Given the description of an element on the screen output the (x, y) to click on. 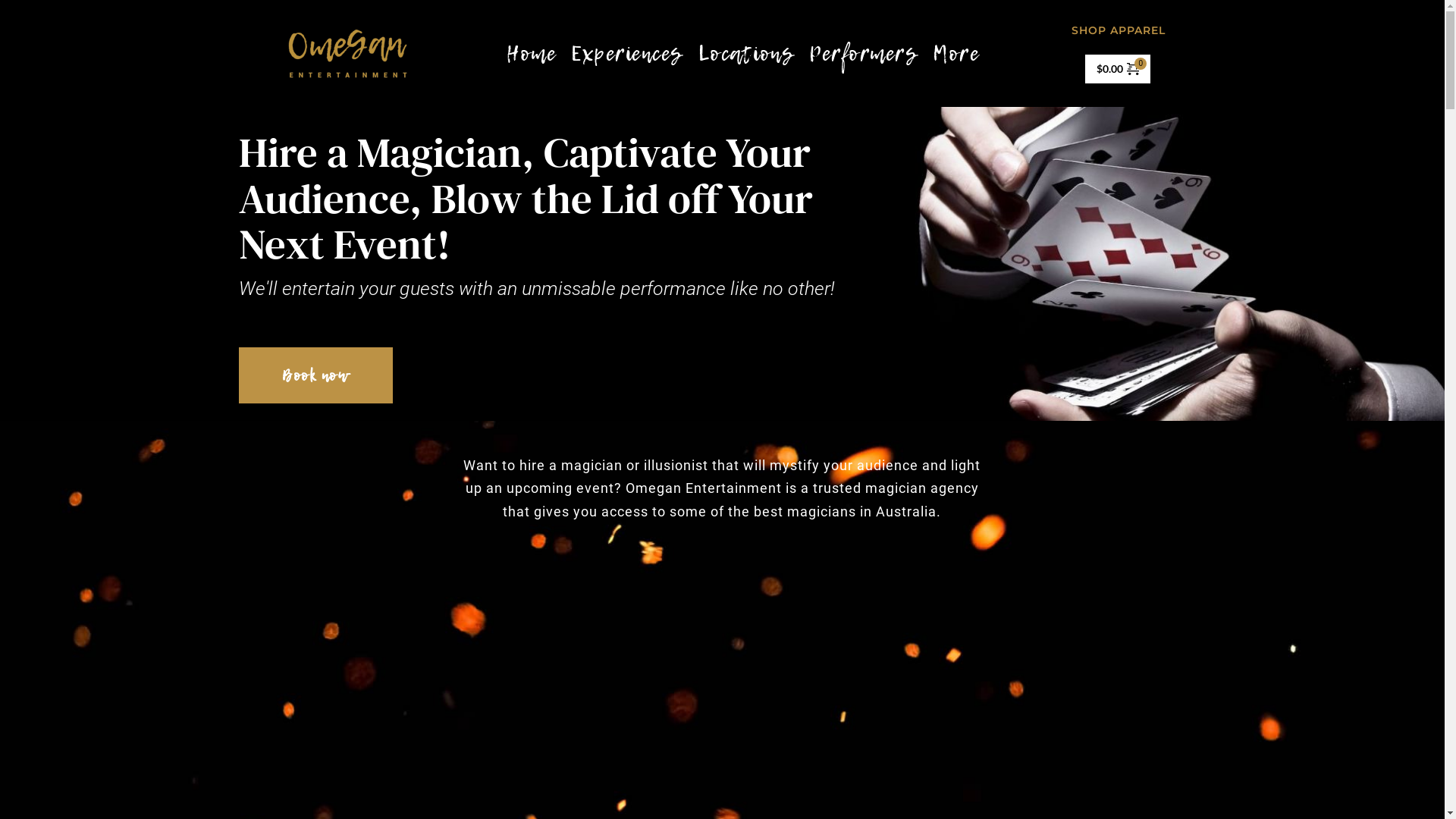
Home Element type: text (530, 53)
More Element type: text (955, 53)
SHOP APPAREL Element type: text (1118, 30)
Experiences Element type: text (627, 53)
Book now Element type: text (315, 375)
Performers Element type: text (863, 53)
Locations Element type: text (746, 53)
$0.00 Element type: text (1117, 68)
